Given the description of an element on the screen output the (x, y) to click on. 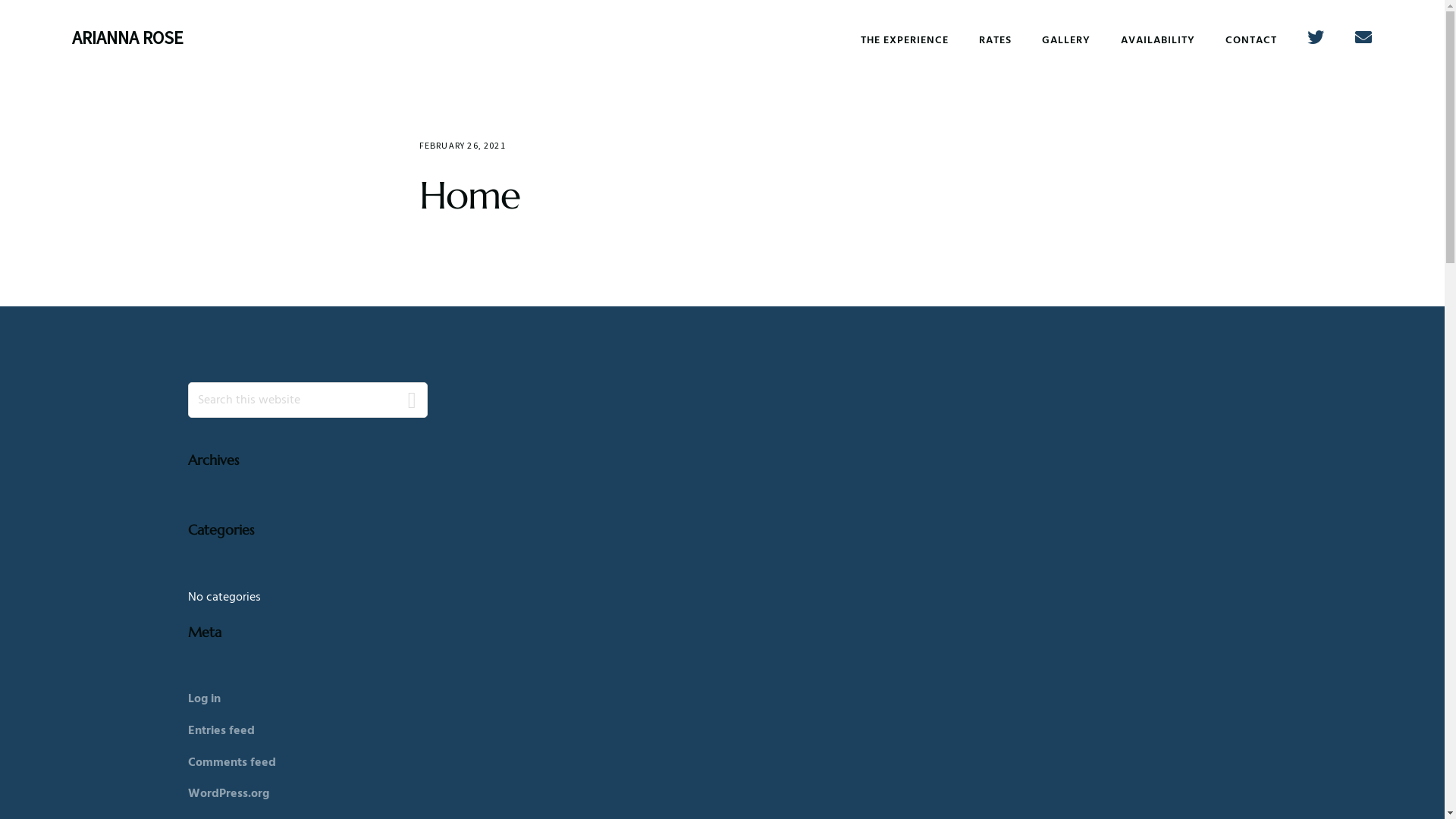
RATES Element type: text (995, 40)
ARIANNA ROSE Element type: text (127, 37)
THE EXPERIENCE Element type: text (904, 40)
GALLERY Element type: text (1065, 40)
CONTACT Element type: text (1251, 40)
Skip to primary navigation Element type: text (0, 0)
Log in Element type: text (204, 699)
Search Element type: text (412, 399)
WordPress.org Element type: text (228, 793)
Comments feed Element type: text (232, 762)
Entries feed Element type: text (221, 730)
AVAILABILITY Element type: text (1157, 40)
